Given the description of an element on the screen output the (x, y) to click on. 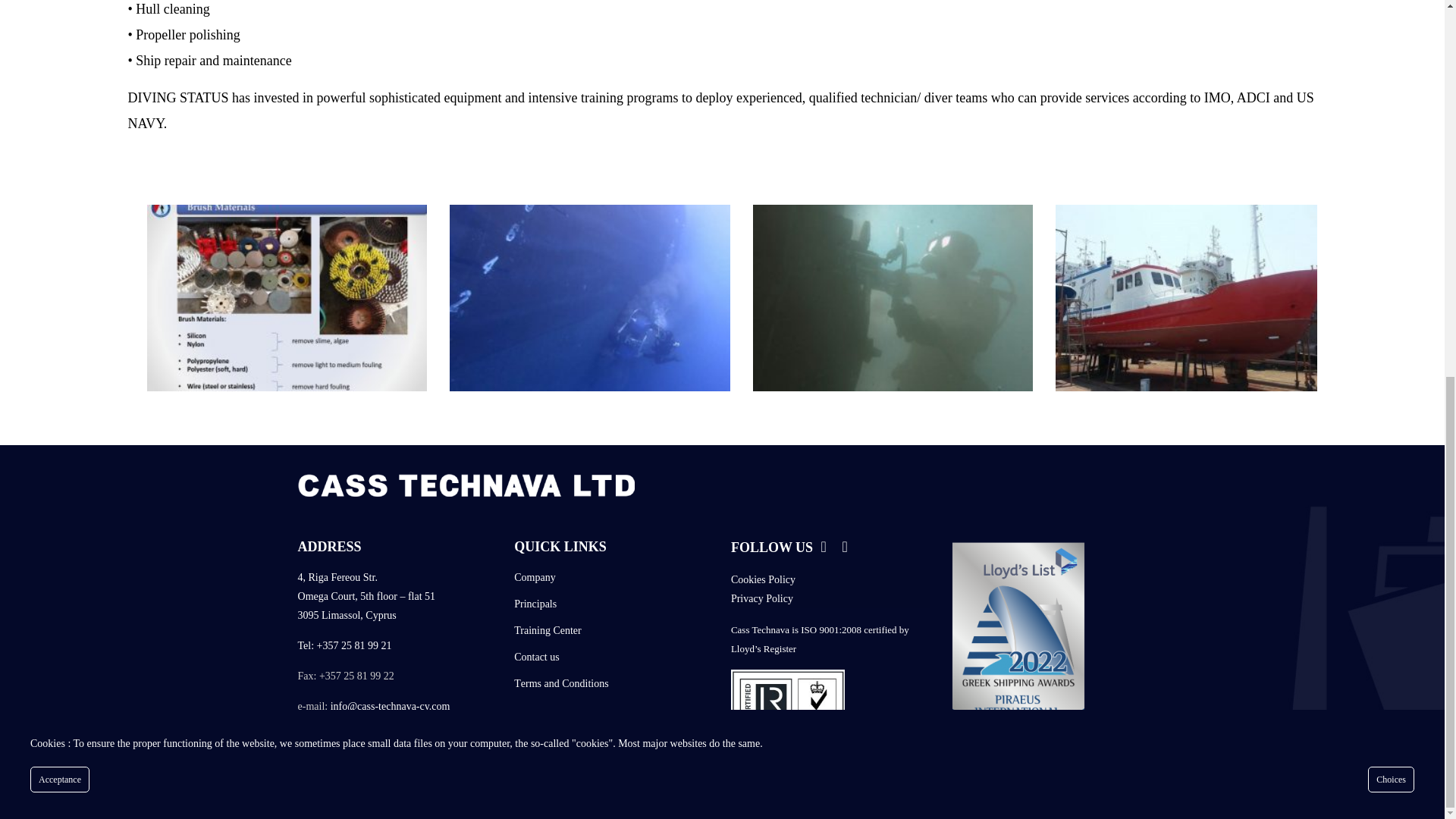
LinkedIn (845, 548)
Facebook (823, 548)
